Given the description of an element on the screen output the (x, y) to click on. 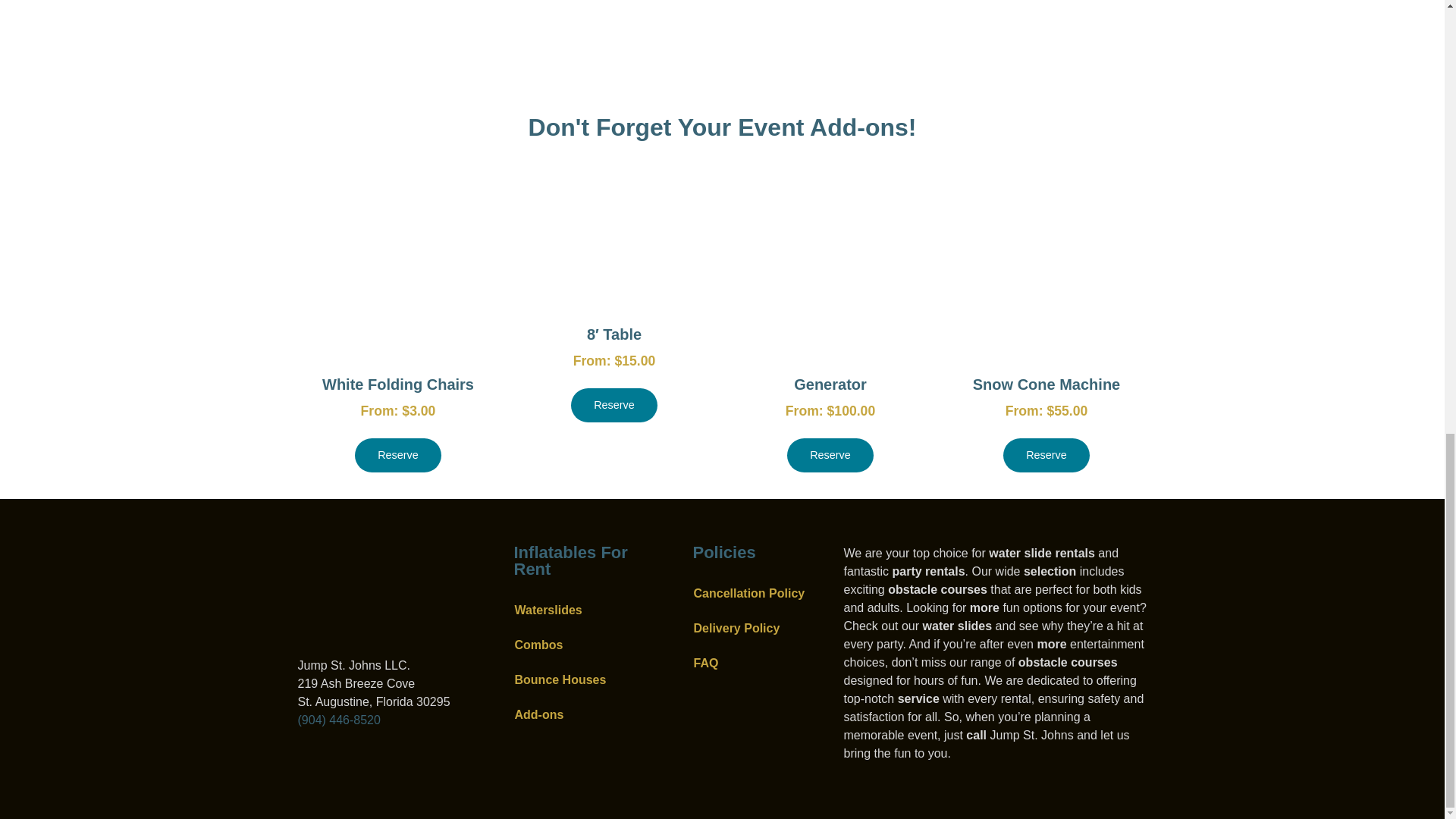
Bounce Houses (578, 679)
Waterslides (578, 610)
Add-ons (578, 714)
Reserve (398, 454)
Reserve (614, 404)
Reserve (830, 454)
Reserve (1046, 454)
9 (372, 592)
Combos (578, 645)
